Given the description of an element on the screen output the (x, y) to click on. 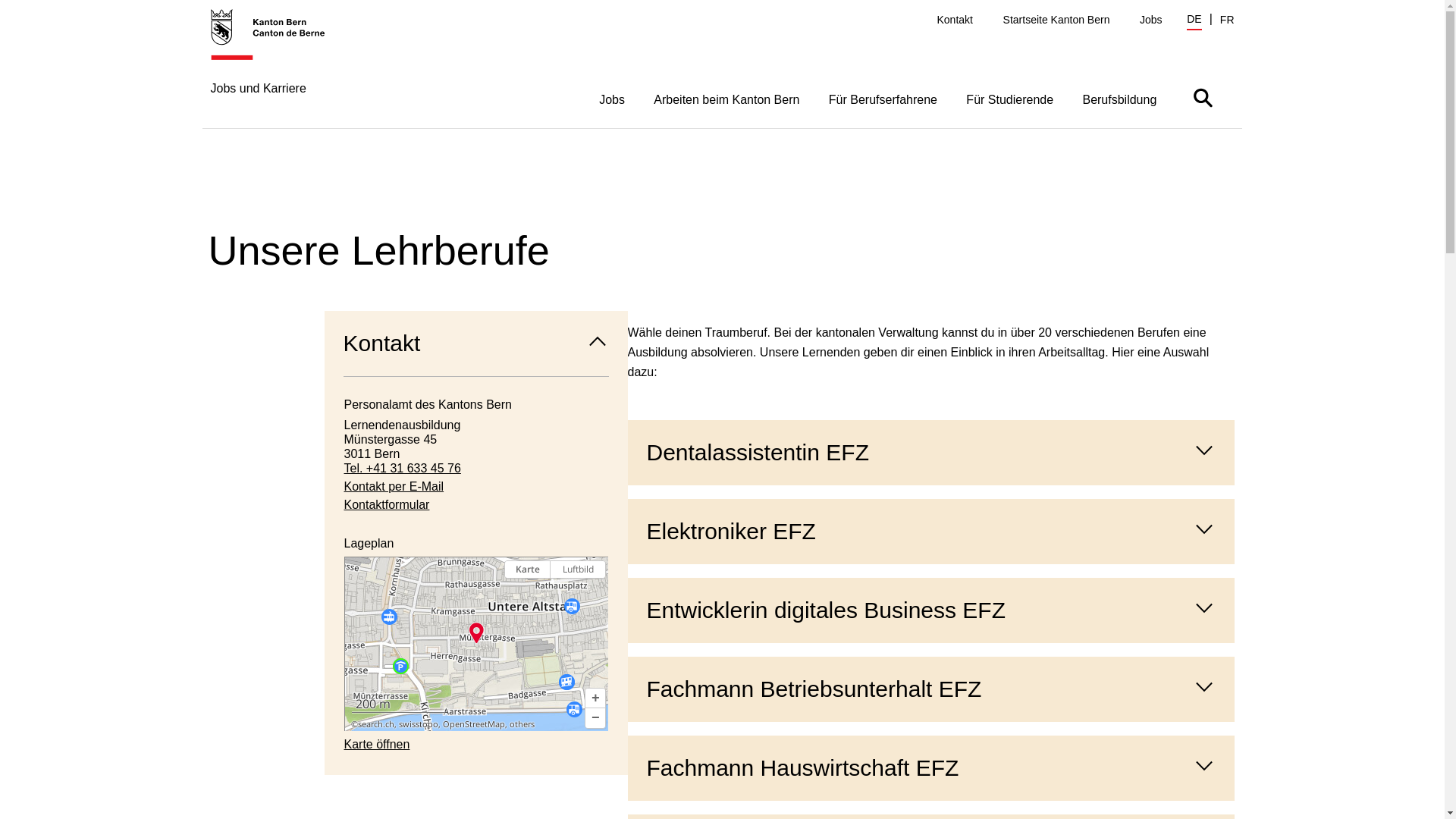
Arbeiten beim Kanton Bern Element type: text (726, 97)
Entwicklerin digitales Business EFZ Element type: text (930, 610)
Kontakt per E-Mail Element type: text (476, 486)
Kontaktformular Element type: text (476, 504)
Kontakt Element type: text (954, 19)
Dentalassistentin EFZ Element type: text (930, 452)
DE Element type: text (1193, 21)
Elektroniker EFZ Element type: text (930, 531)
Jobs und Karriere Element type: text (275, 68)
FR Element type: text (1227, 19)
Fachmann Betriebsunterhalt EFZ Element type: text (930, 688)
Lageplan Element type: hover (476, 643)
Berufsbildung Element type: text (1118, 97)
Jobs Element type: text (611, 97)
Startseite Kanton Bern Element type: text (1056, 19)
Fachmann Hauswirtschaft EFZ Element type: text (930, 767)
Tel. +41 31 633 45 76 Element type: text (476, 468)
Suche ein- oder ausblenden Element type: text (1201, 96)
Jobs Element type: text (1150, 19)
Kontakt Element type: text (475, 343)
